Given the description of an element on the screen output the (x, y) to click on. 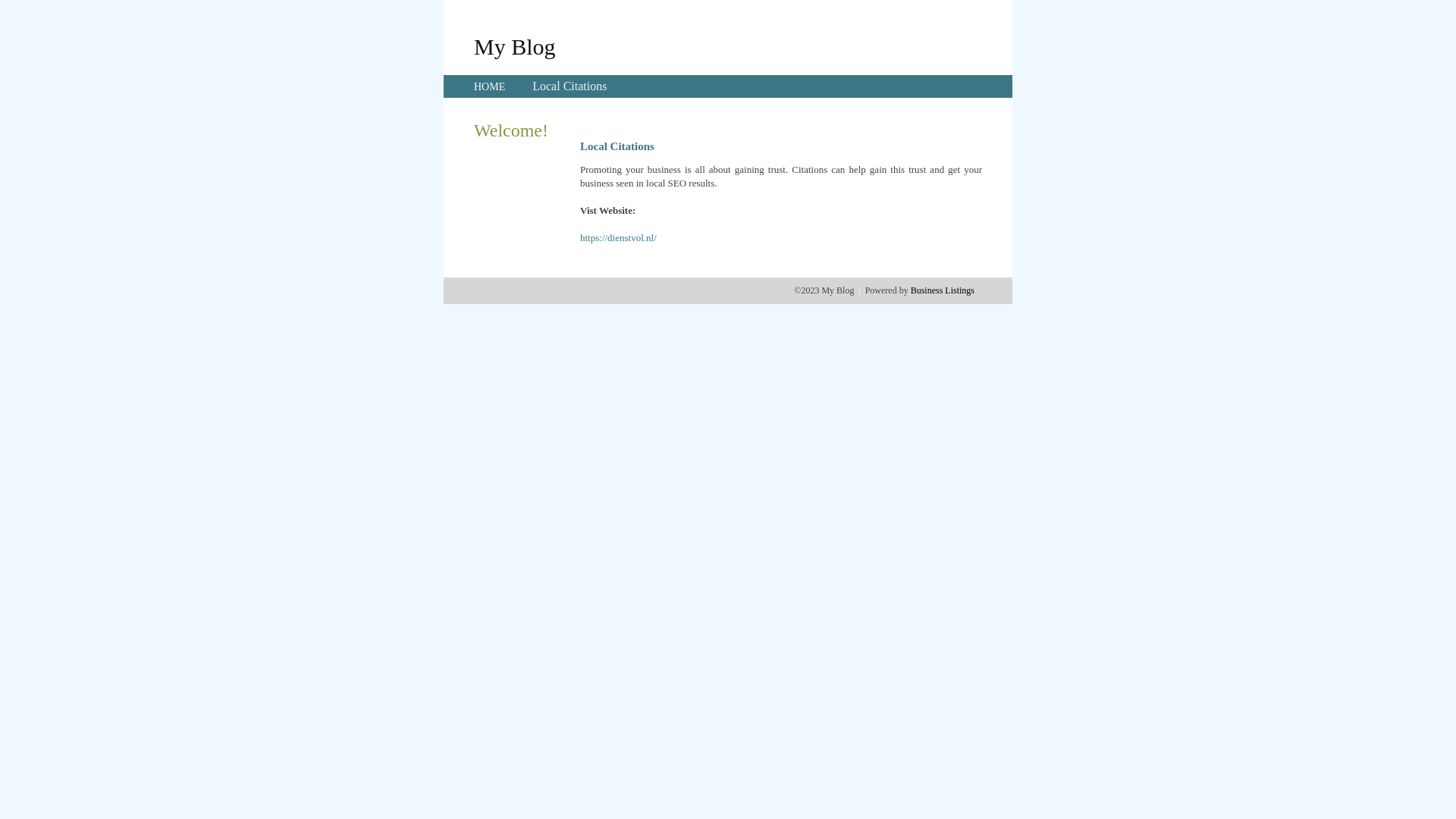
HOME Element type: text (489, 86)
Local Citations Element type: text (569, 85)
Business Listings Element type: text (942, 290)
My Blog Element type: text (514, 46)
https://dienstvol.nl/ Element type: text (618, 237)
